Given the description of an element on the screen output the (x, y) to click on. 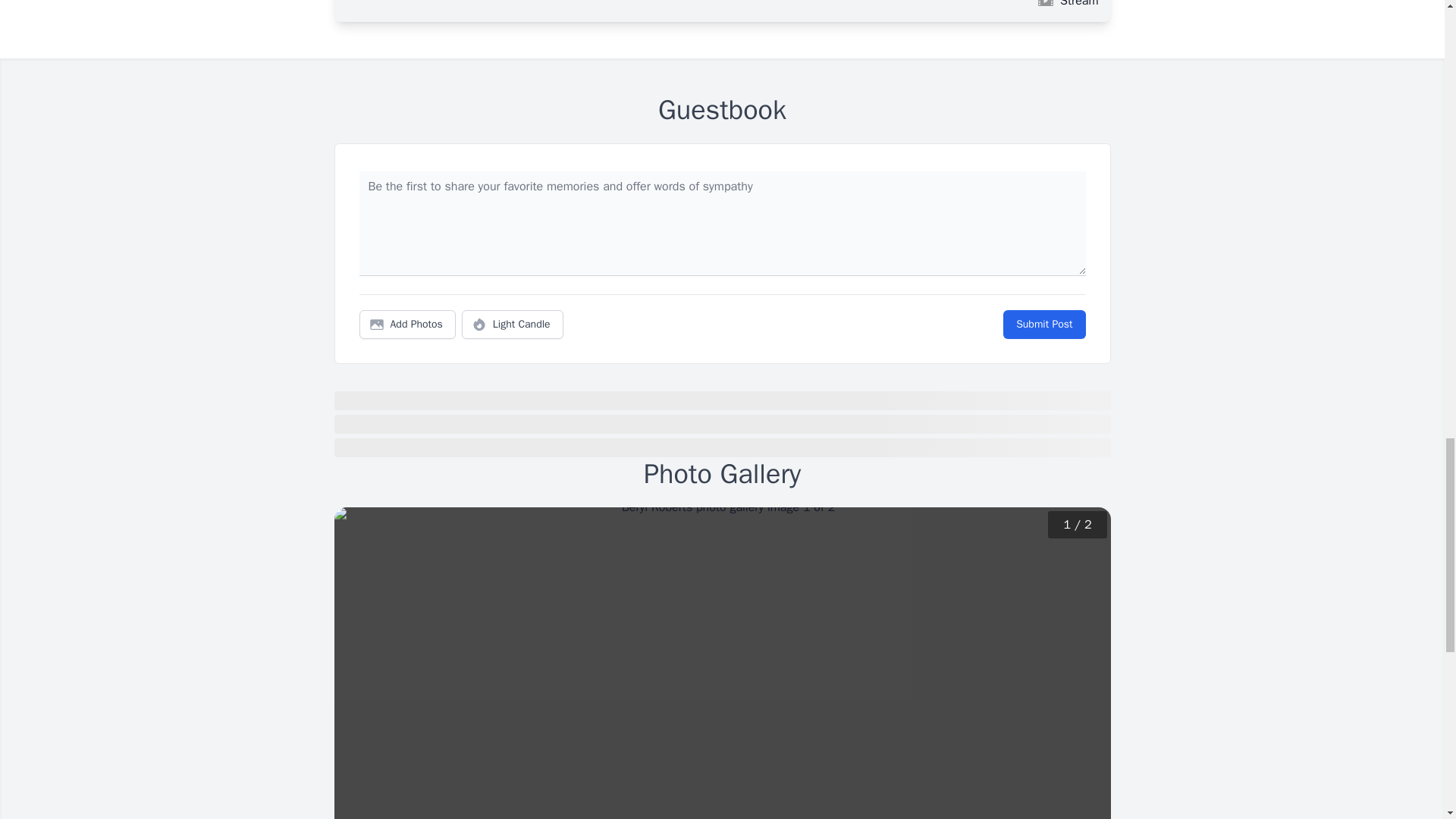
Submit Post (1043, 324)
Light Candle (512, 324)
Add Photos (407, 324)
